Given the description of an element on the screen output the (x, y) to click on. 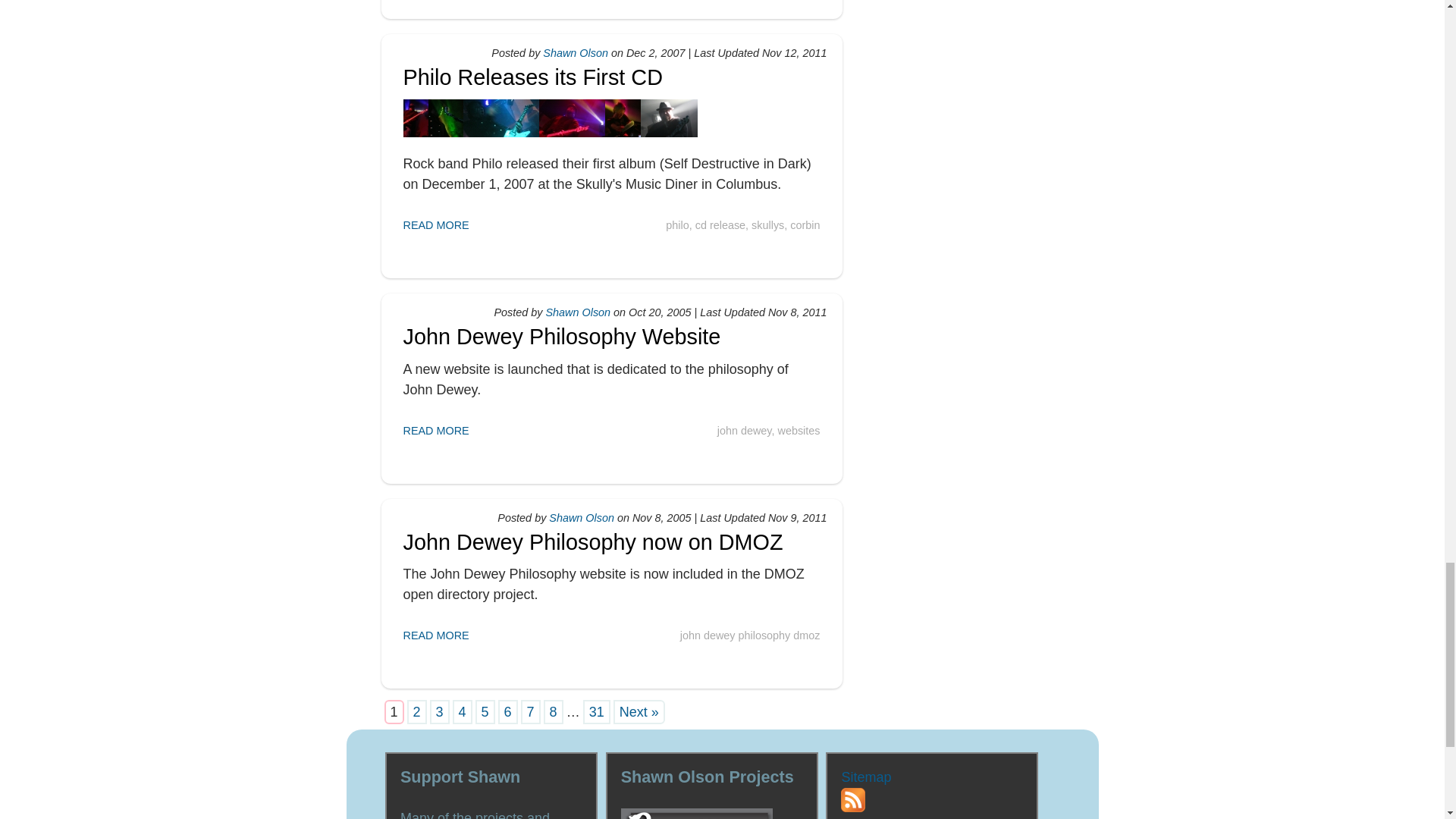
Shawn Olson (578, 312)
31 (596, 711)
READ MORE (435, 635)
John Dewey Philosophy now on DMOZ (593, 541)
Shawn Olson (581, 517)
Philo Releases its First CD (532, 77)
Shawn Olson (575, 52)
READ MORE (435, 224)
READ MORE (435, 430)
John Dewey Philosophy Website (561, 336)
